Given the description of an element on the screen output the (x, y) to click on. 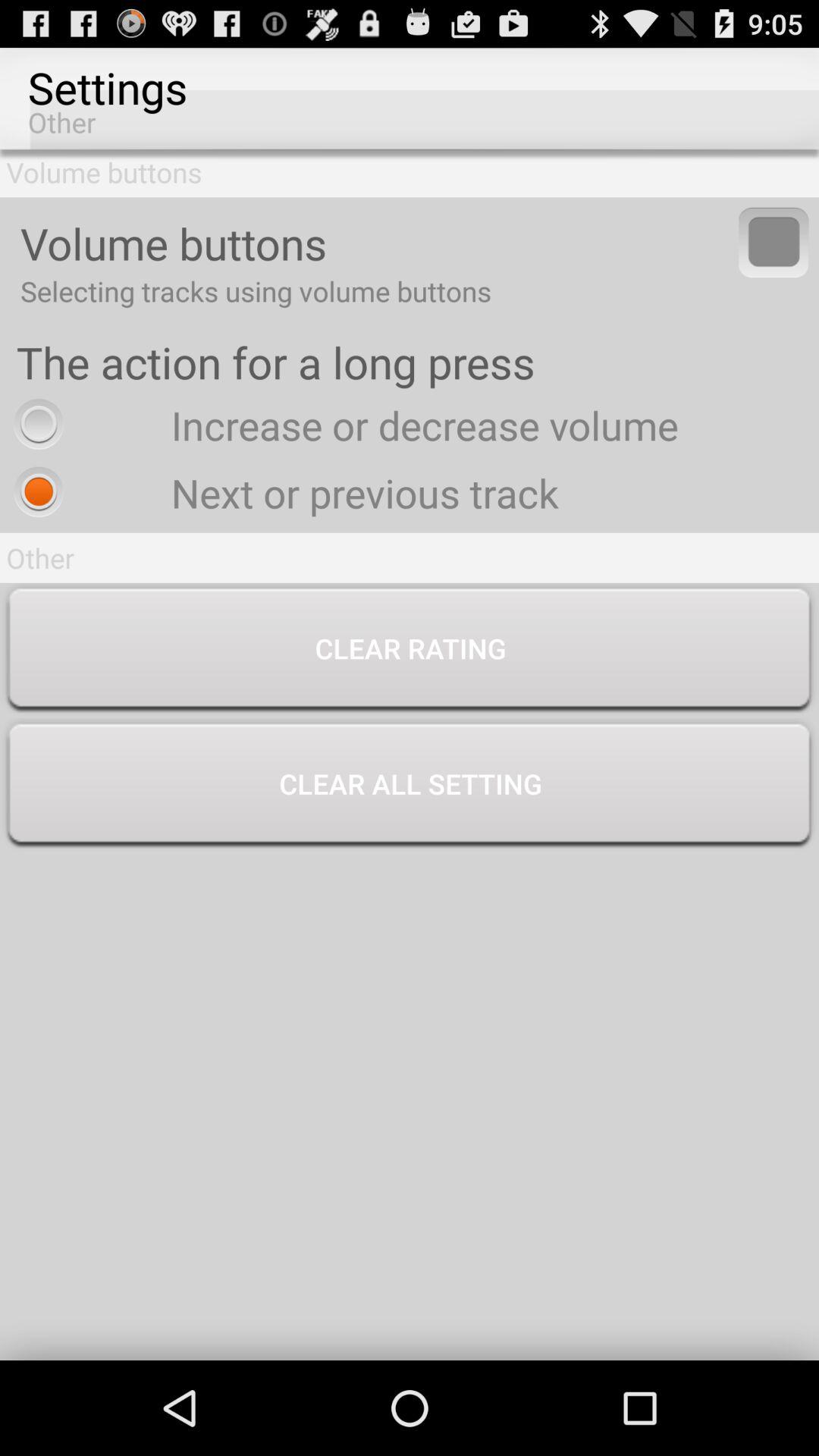
choose icon above next or previous (342, 424)
